Given the description of an element on the screen output the (x, y) to click on. 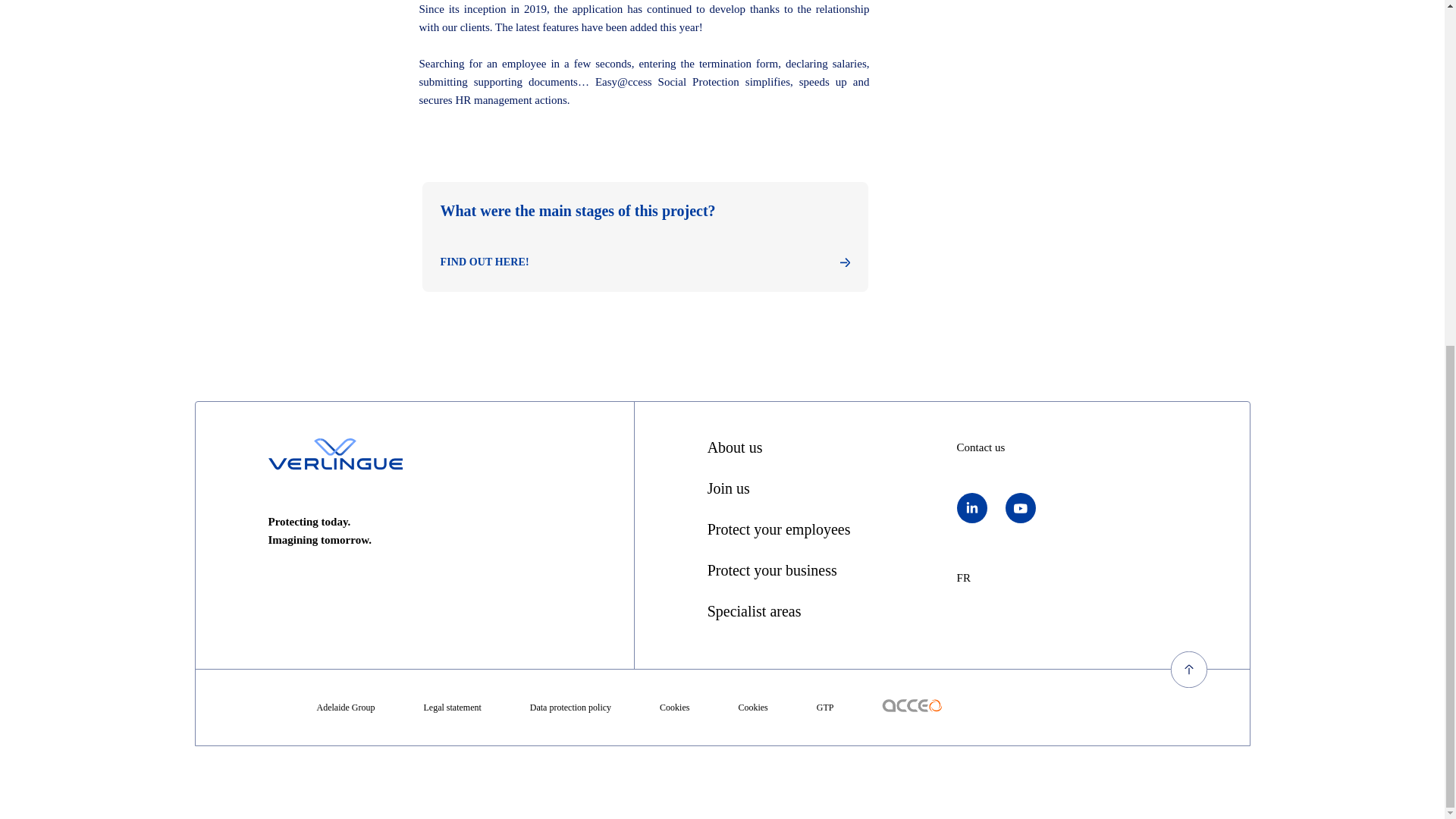
Back to home page (335, 454)
Find out here! (643, 261)
